Given the description of an element on the screen output the (x, y) to click on. 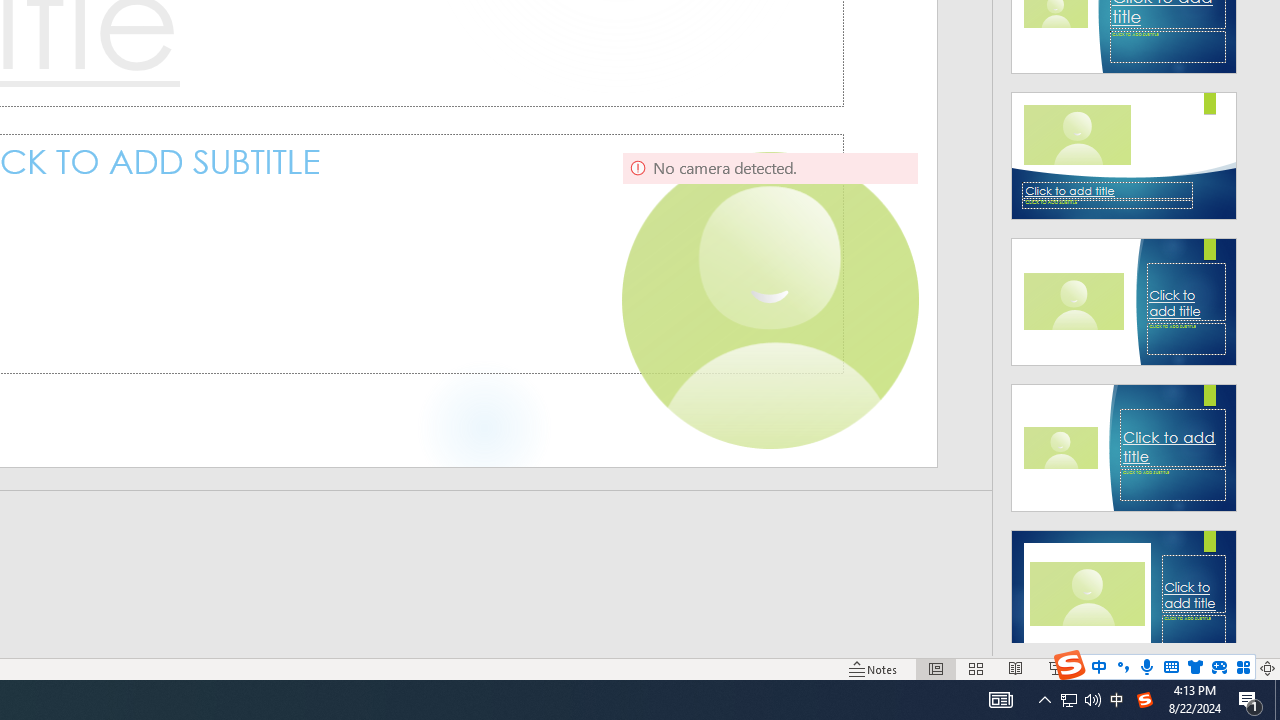
Zoom 140% (1234, 668)
Design Idea (1124, 587)
